Given the description of an element on the screen output the (x, y) to click on. 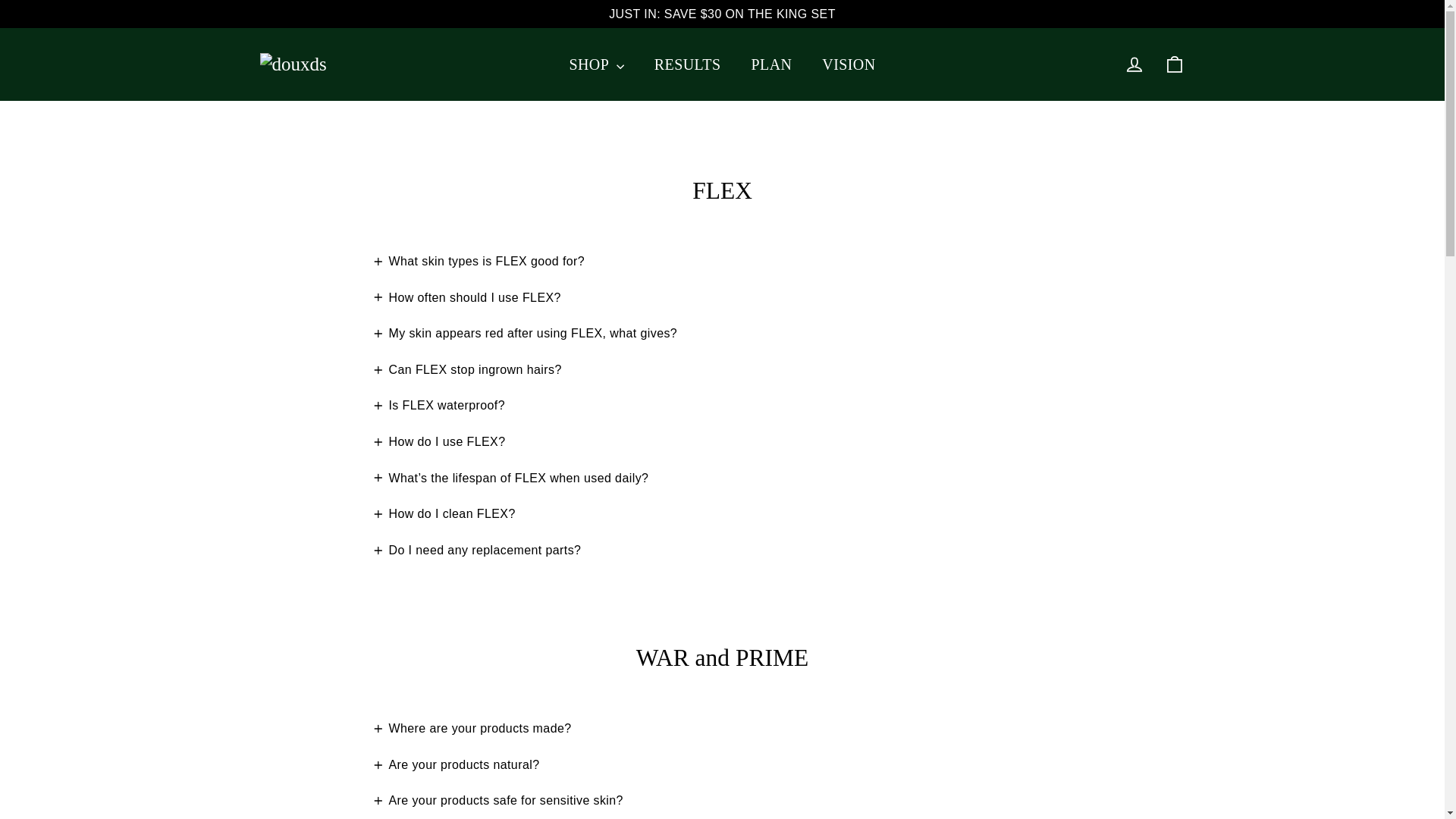
VISION (847, 64)
Cart (1173, 63)
Can FLEX stop ingrown hairs? (466, 370)
PLAN (772, 64)
Log in (1134, 63)
SHOP (596, 64)
How do I clean FLEX? (443, 514)
Is FLEX waterproof? (437, 405)
How often should I use FLEX? (466, 298)
